Given the description of an element on the screen output the (x, y) to click on. 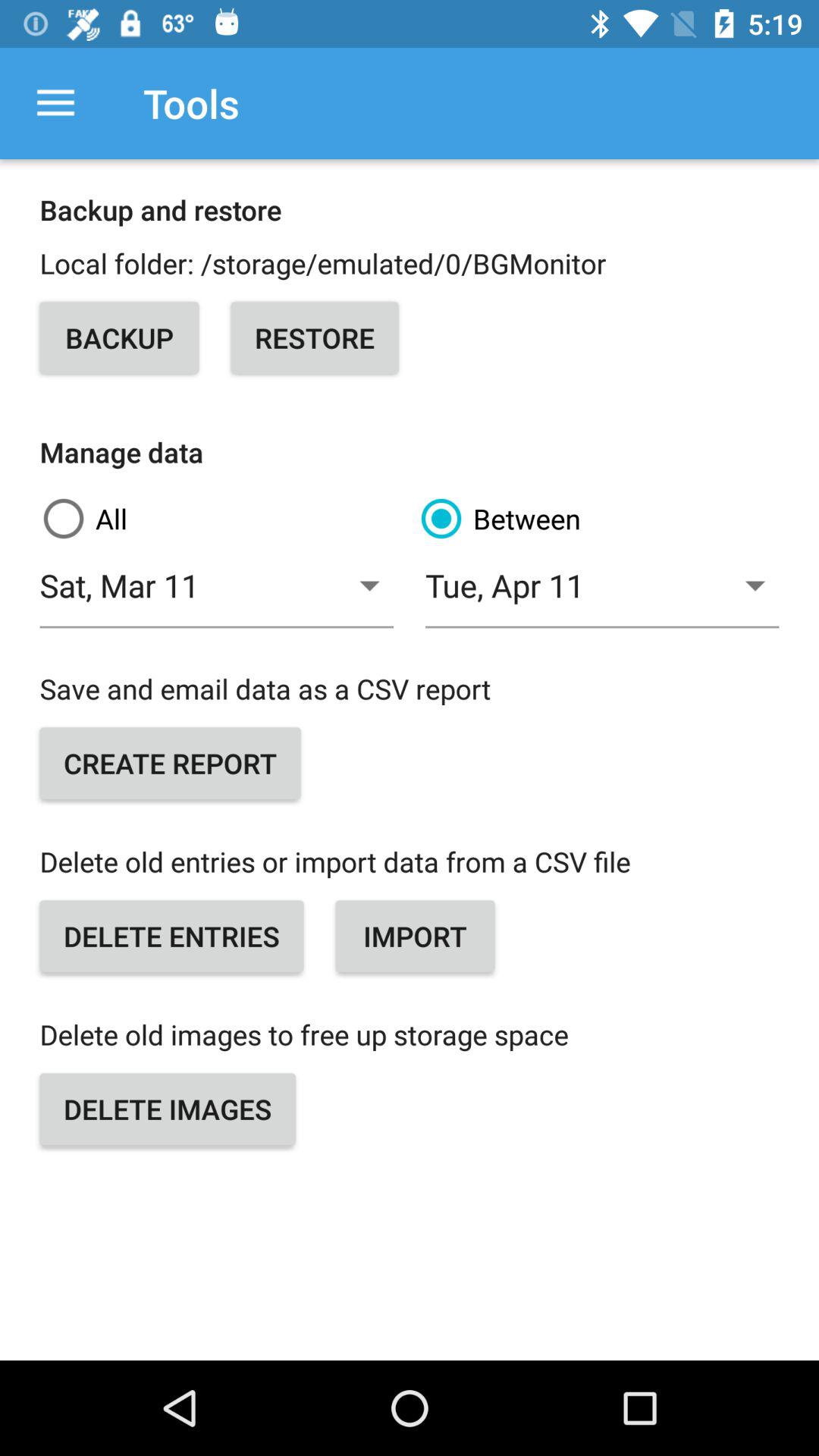
launch the icon next to the between icon (216, 594)
